Given the description of an element on the screen output the (x, y) to click on. 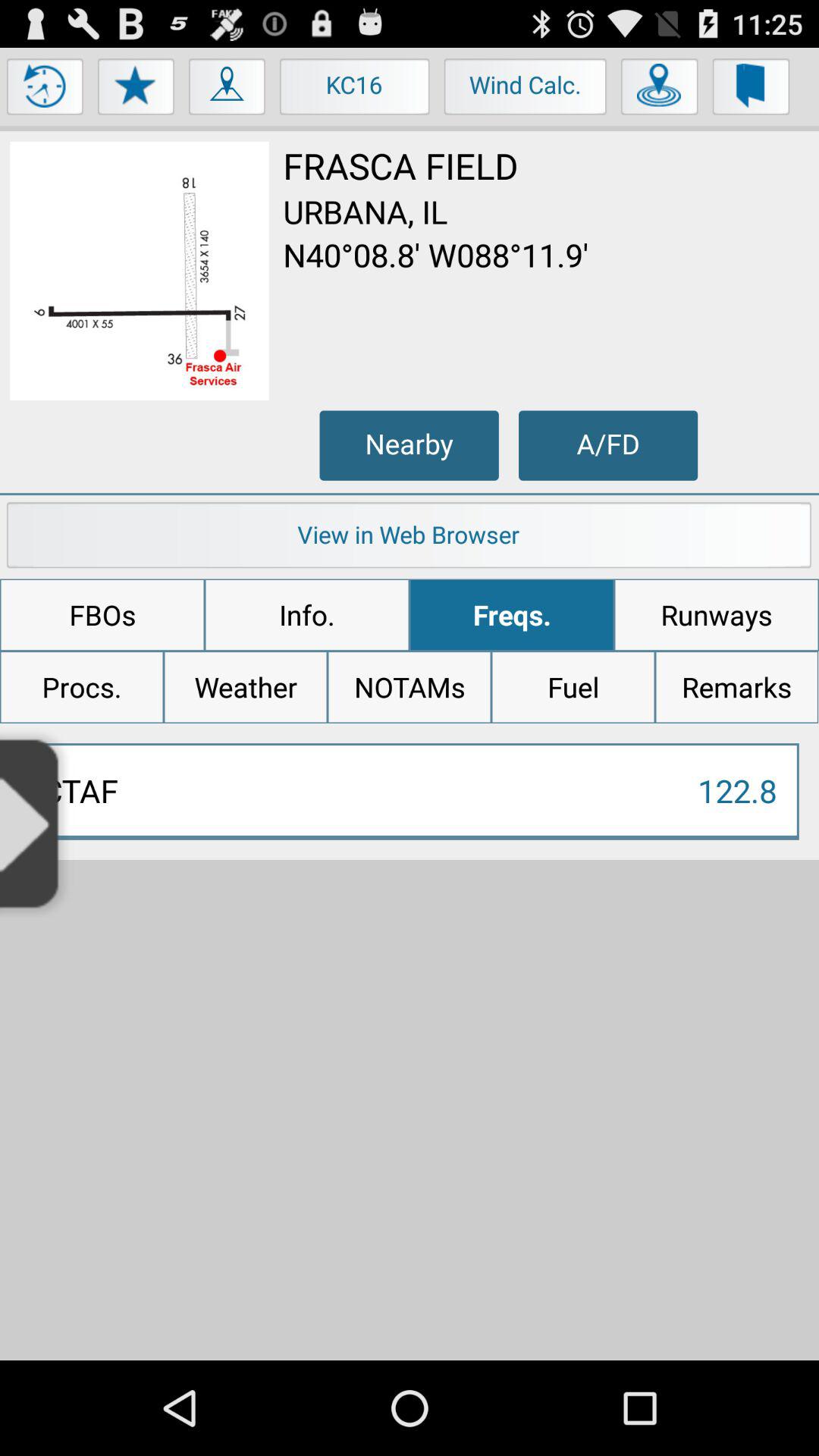
turn off icon above the frasca field icon (659, 90)
